Given the description of an element on the screen output the (x, y) to click on. 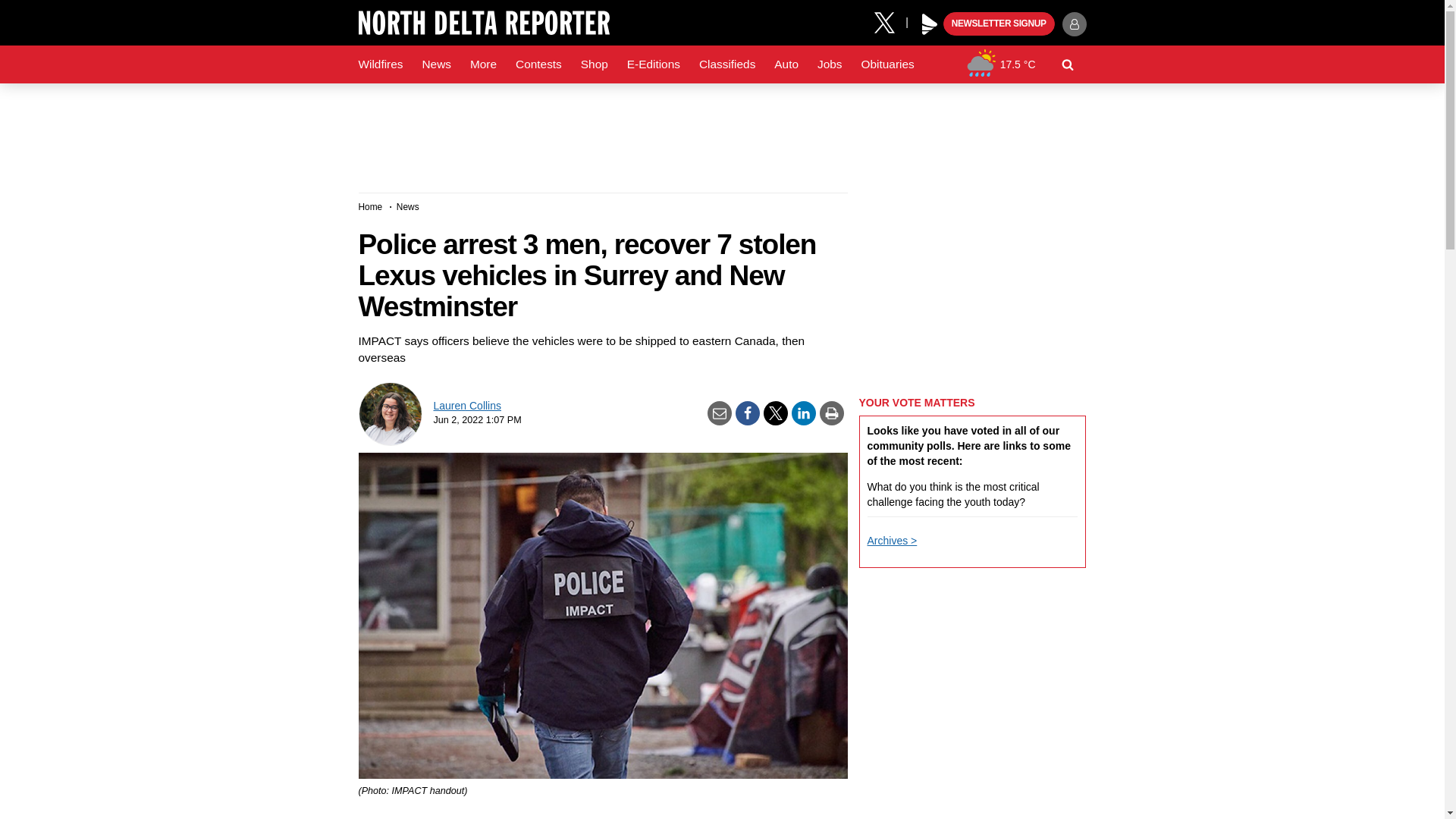
X (889, 21)
Play (929, 24)
NEWSLETTER SIGNUP (998, 24)
Wildfires (380, 64)
Black Press Media (929, 24)
News (435, 64)
